Given the description of an element on the screen output the (x, y) to click on. 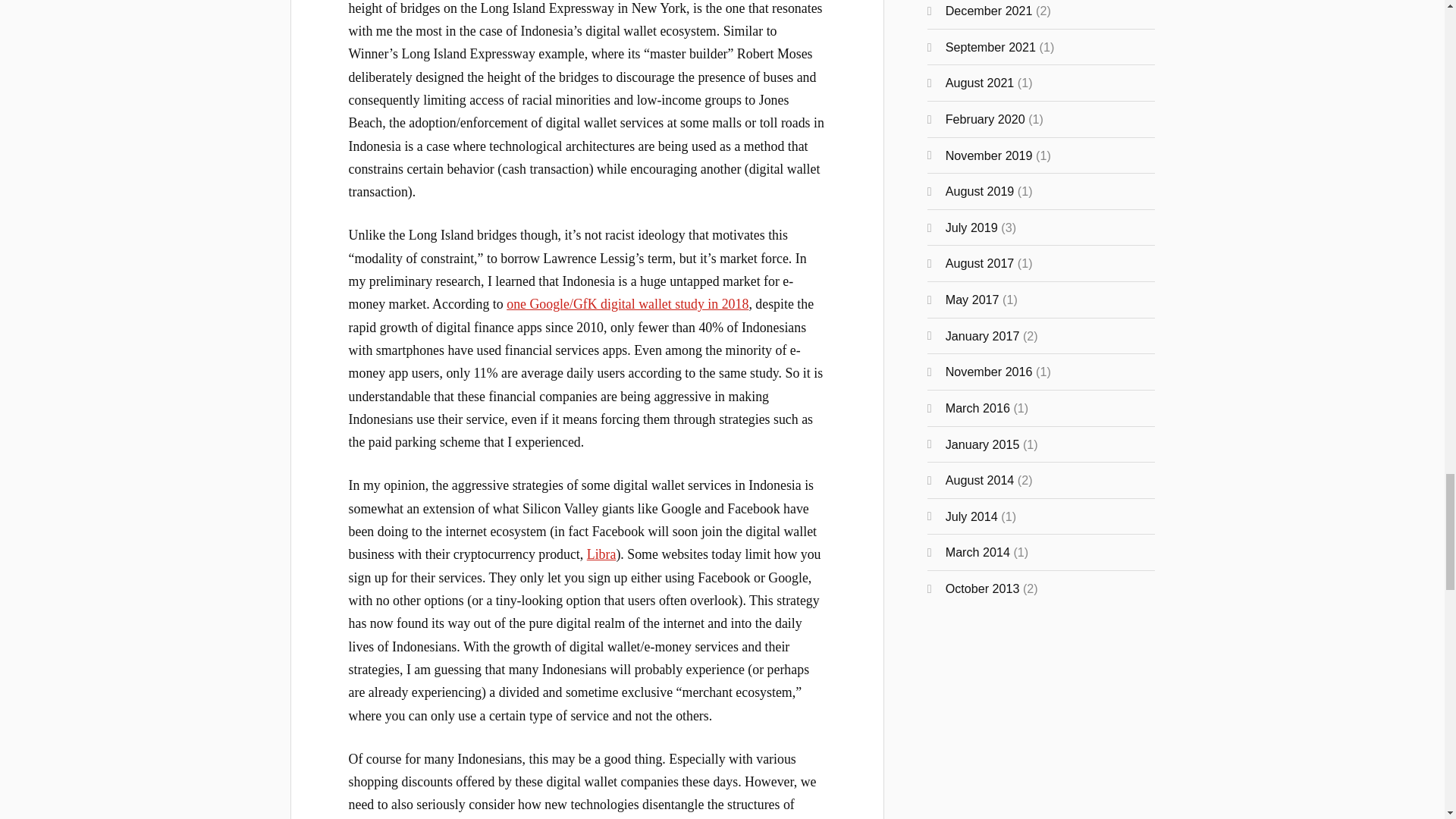
Libra (600, 554)
